Given the description of an element on the screen output the (x, y) to click on. 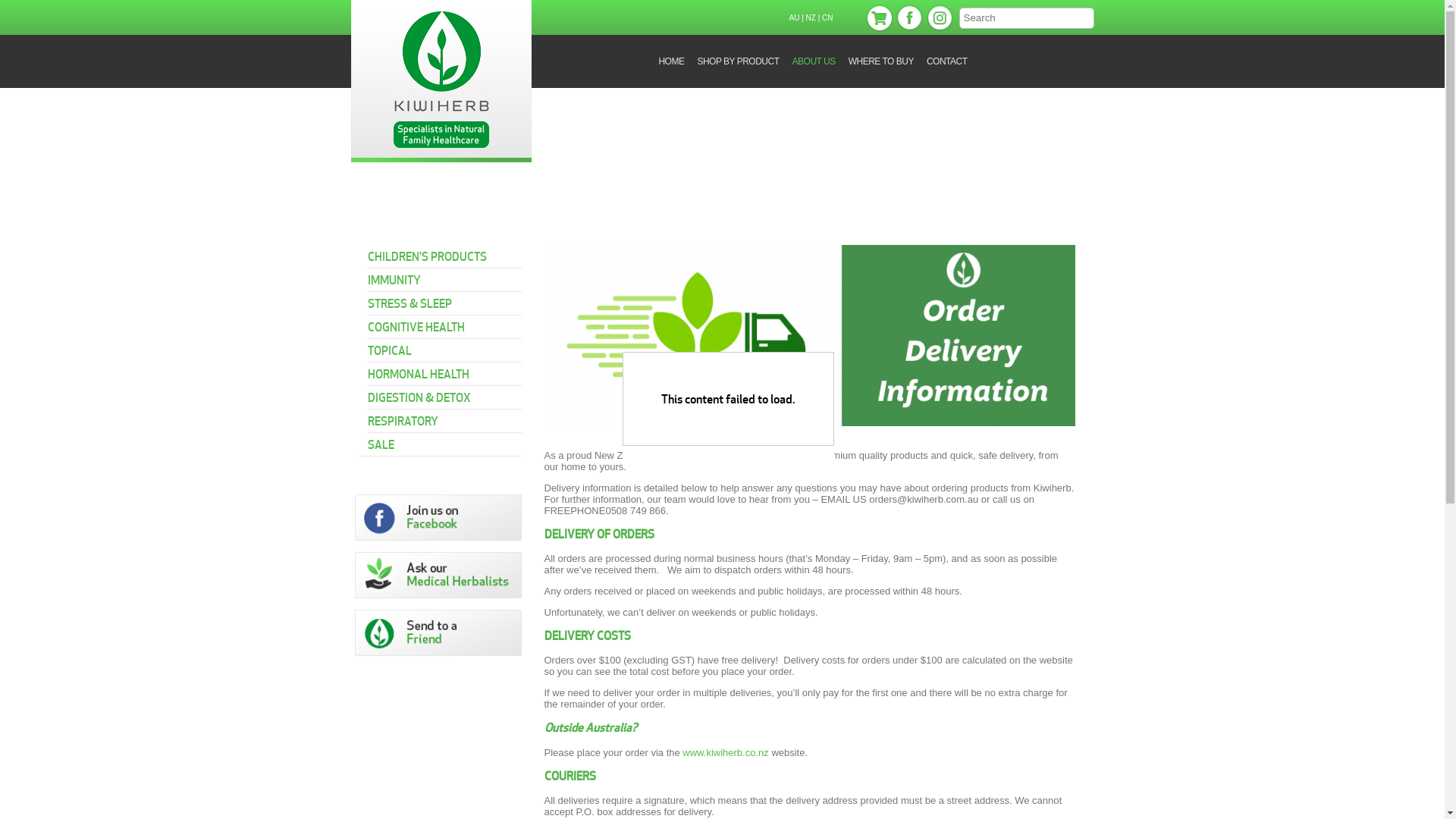
www.kiwiherb.co.nz Element type: text (725, 752)
CN Element type: text (827, 17)
HORMONAL HEALTH Element type: text (443, 371)
NZ Element type: text (810, 17)
DIGESTION & DETOX Element type: text (443, 394)
AU Element type: text (793, 17)
SHOP BY PRODUCT Element type: text (737, 60)
ABOUT US Element type: text (813, 60)
TOPICAL Element type: text (443, 347)
CONTACT Element type: text (946, 60)
CHILDREN'S PRODUCTS Element type: text (443, 253)
RESPIRATORY Element type: text (443, 418)
SALE Element type: text (443, 441)
STRESS & SLEEP Element type: text (443, 300)
COGNITIVE HEALTH Element type: text (443, 324)
WHERE TO BUY Element type: text (880, 60)
View Cart Element type: hover (878, 17)
HOME Element type: text (670, 60)
IMMUNITY Element type: text (443, 277)
